Given the description of an element on the screen output the (x, y) to click on. 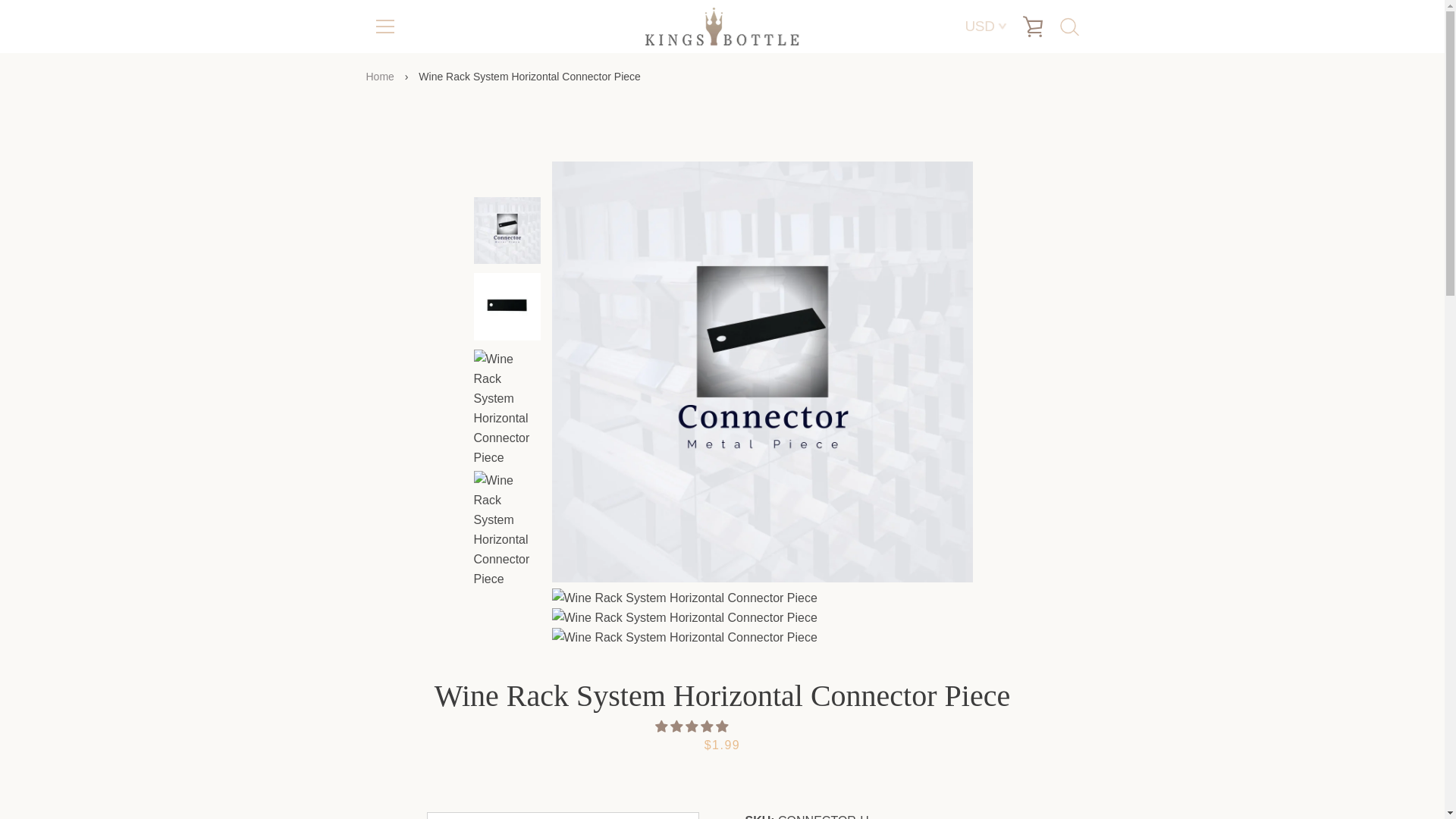
Back to the frontpage (381, 76)
MENU (384, 26)
